Given the description of an element on the screen output the (x, y) to click on. 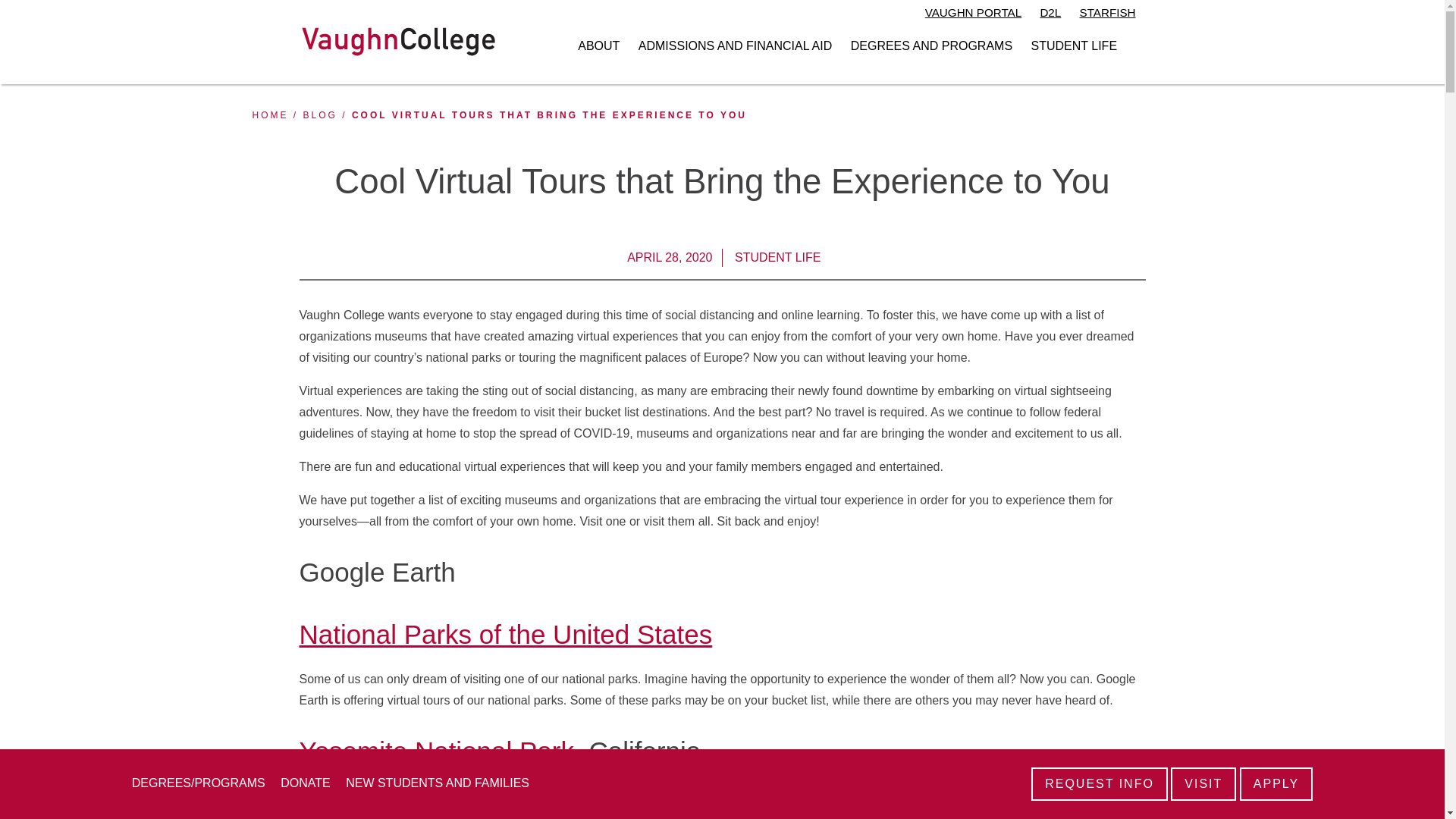
VAUGHN PORTAL (973, 14)
STARFISH (1107, 14)
ADMISSIONS AND FINANCIAL AID (735, 46)
DEGREES AND PROGRAMS (930, 46)
ABOUT (599, 46)
